Given the description of an element on the screen output the (x, y) to click on. 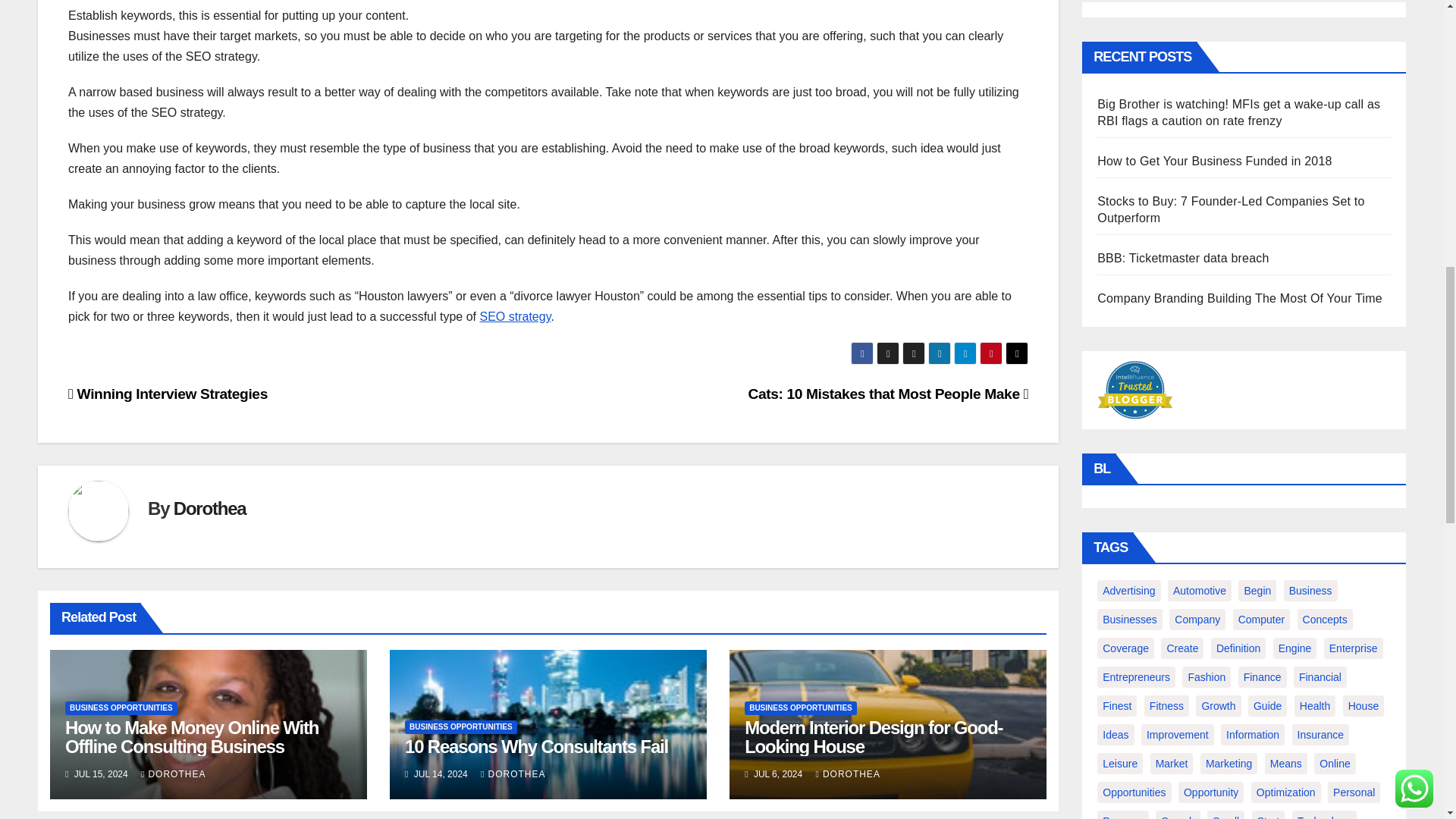
Dorothea (209, 507)
Permalink to: 10 Reasons Why Consultants Fail (536, 746)
Winning Interview Strategies (167, 393)
SEO strategy (514, 316)
Cats: 10 Mistakes that Most People Make (887, 393)
